Given the description of an element on the screen output the (x, y) to click on. 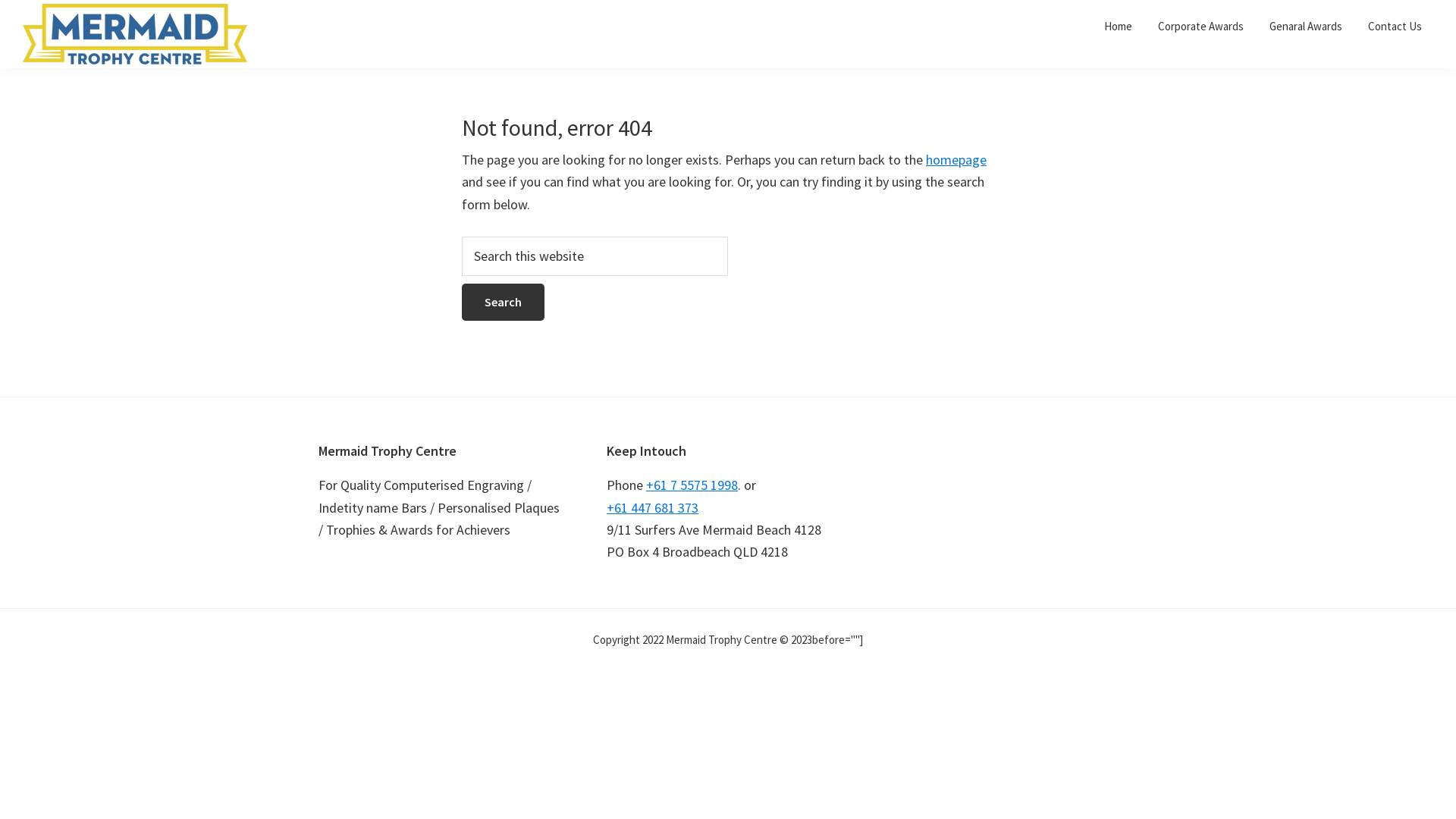
+61 7 5575 1998 Element type: text (691, 484)
+61 447 681 373 Element type: text (652, 507)
Corporate Awards Element type: text (1200, 25)
Genaral Awards Element type: text (1305, 25)
Contact Us Element type: text (1394, 25)
Skip to primary navigation Element type: text (0, 0)
homepage Element type: text (955, 159)
Home Element type: text (1117, 25)
Search Element type: text (502, 301)
